Given the description of an element on the screen output the (x, y) to click on. 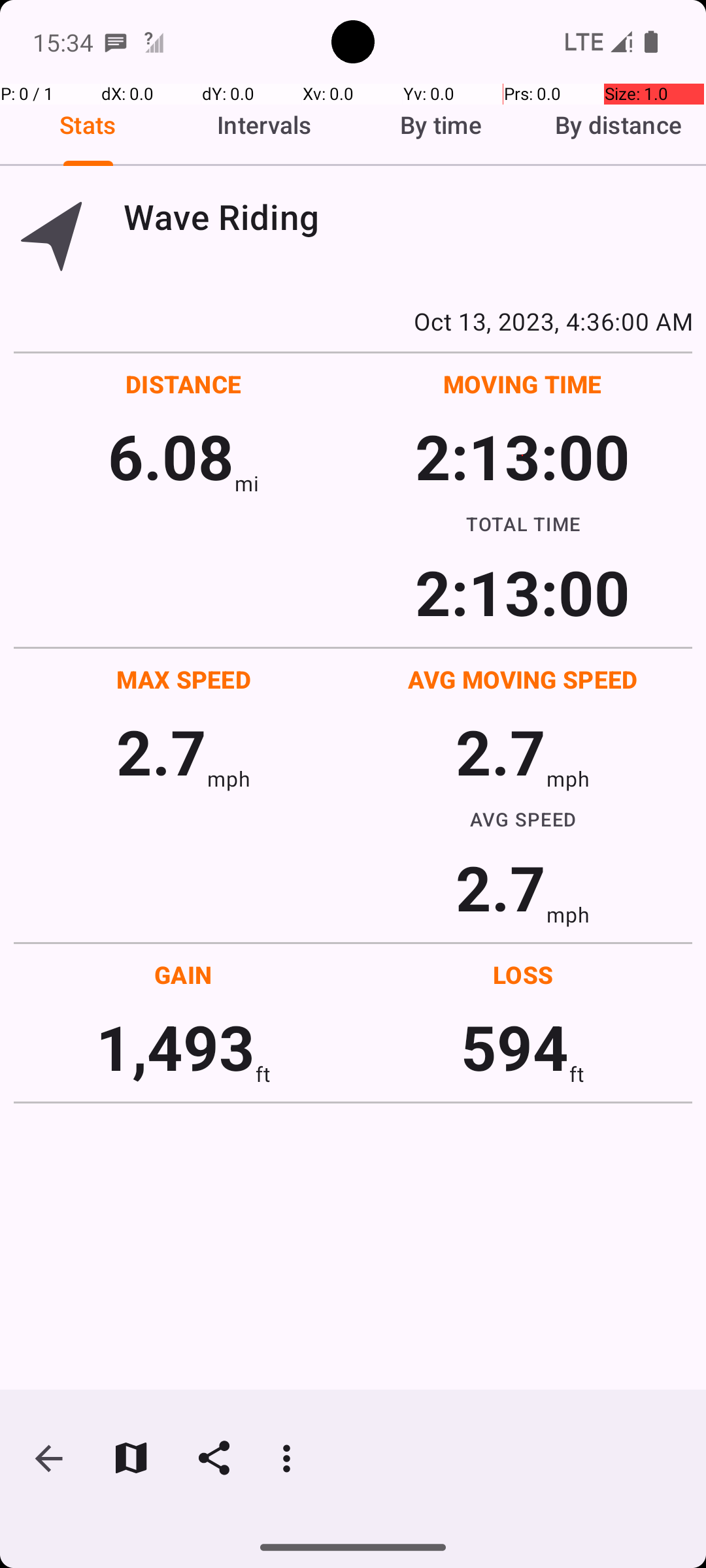
Wave Riding Element type: android.widget.TextView (407, 216)
Oct 13, 2023, 4:36:00 AM Element type: android.widget.TextView (352, 320)
6.08 Element type: android.widget.TextView (170, 455)
2:13:00 Element type: android.widget.TextView (522, 455)
2.7 Element type: android.widget.TextView (161, 750)
1,493 Element type: android.widget.TextView (175, 1045)
594 Element type: android.widget.TextView (514, 1045)
